Given the description of an element on the screen output the (x, y) to click on. 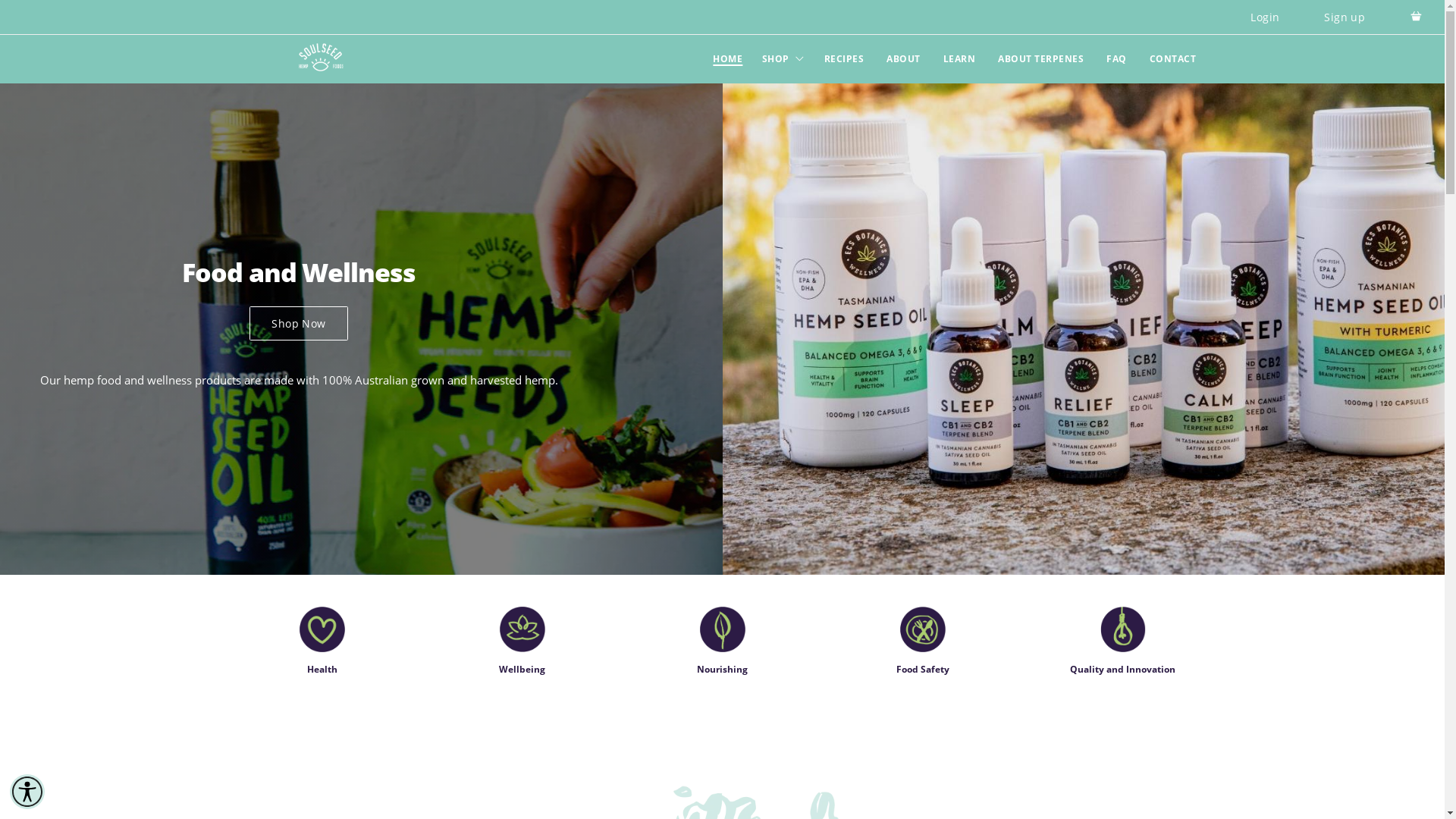
Shop Now Element type: text (298, 323)
SHOP Element type: text (782, 58)
Login Element type: text (1264, 17)
FAQ Element type: text (1116, 59)
ABOUT TERPENES Element type: text (1040, 59)
Sign up Element type: text (1344, 17)
ABOUT Element type: text (903, 59)
HOME Element type: text (727, 59)
LEARN Element type: text (958, 59)
CONTACT Element type: text (1172, 59)
Soul Seeds Food Element type: hover (321, 57)
RECIPES Element type: text (843, 59)
